Given the description of an element on the screen output the (x, y) to click on. 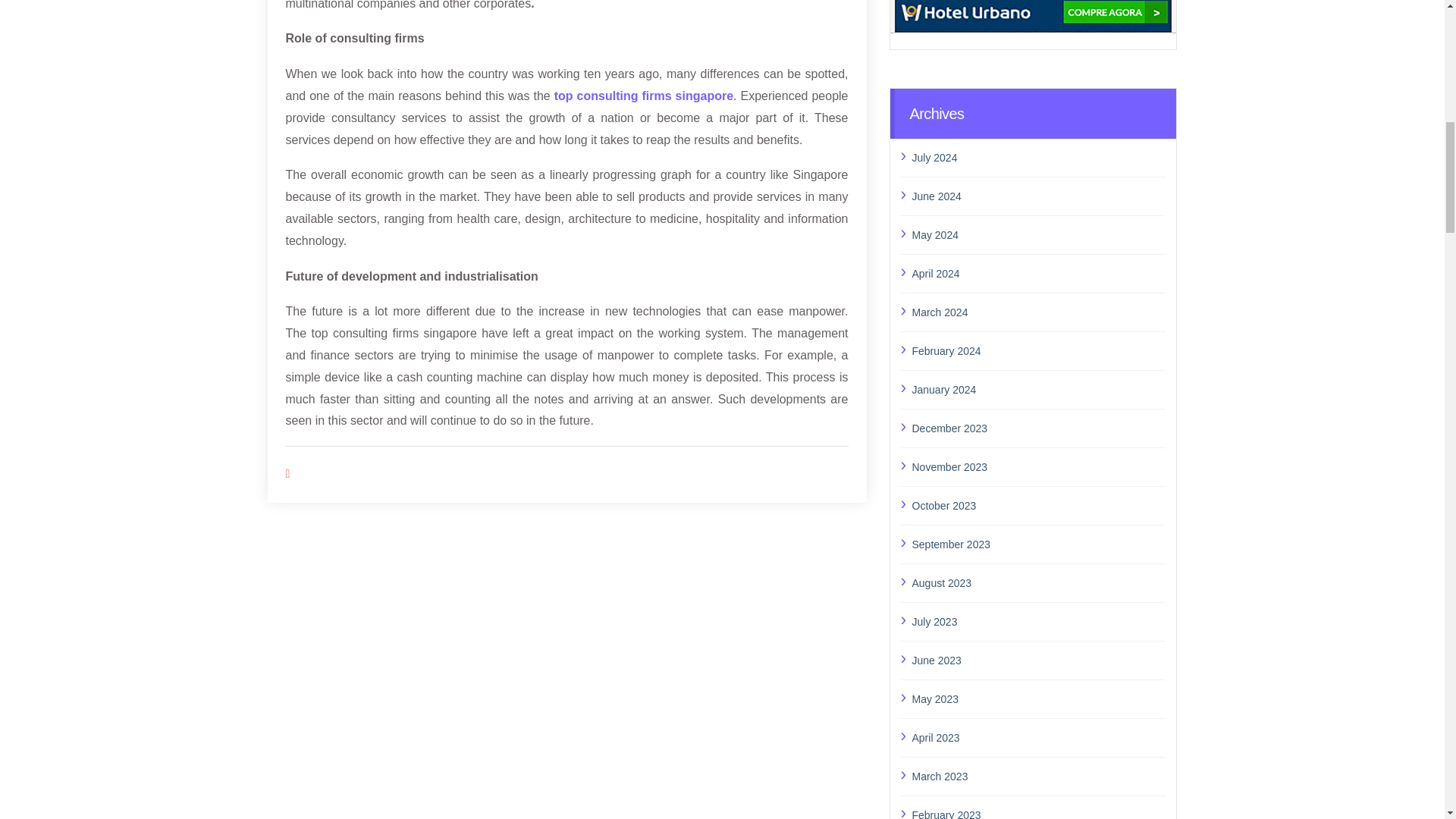
top consulting firms singapore (643, 95)
September 2023 (1038, 544)
January 2024 (1038, 389)
February 2023 (1038, 812)
March 2023 (1038, 776)
November 2023 (1038, 466)
August 2023 (1038, 582)
April 2024 (1038, 273)
February 2024 (1038, 351)
July 2023 (1038, 621)
May 2024 (1038, 234)
April 2023 (1038, 737)
June 2024 (1038, 196)
July 2024 (1038, 157)
December 2023 (1038, 428)
